Given the description of an element on the screen output the (x, y) to click on. 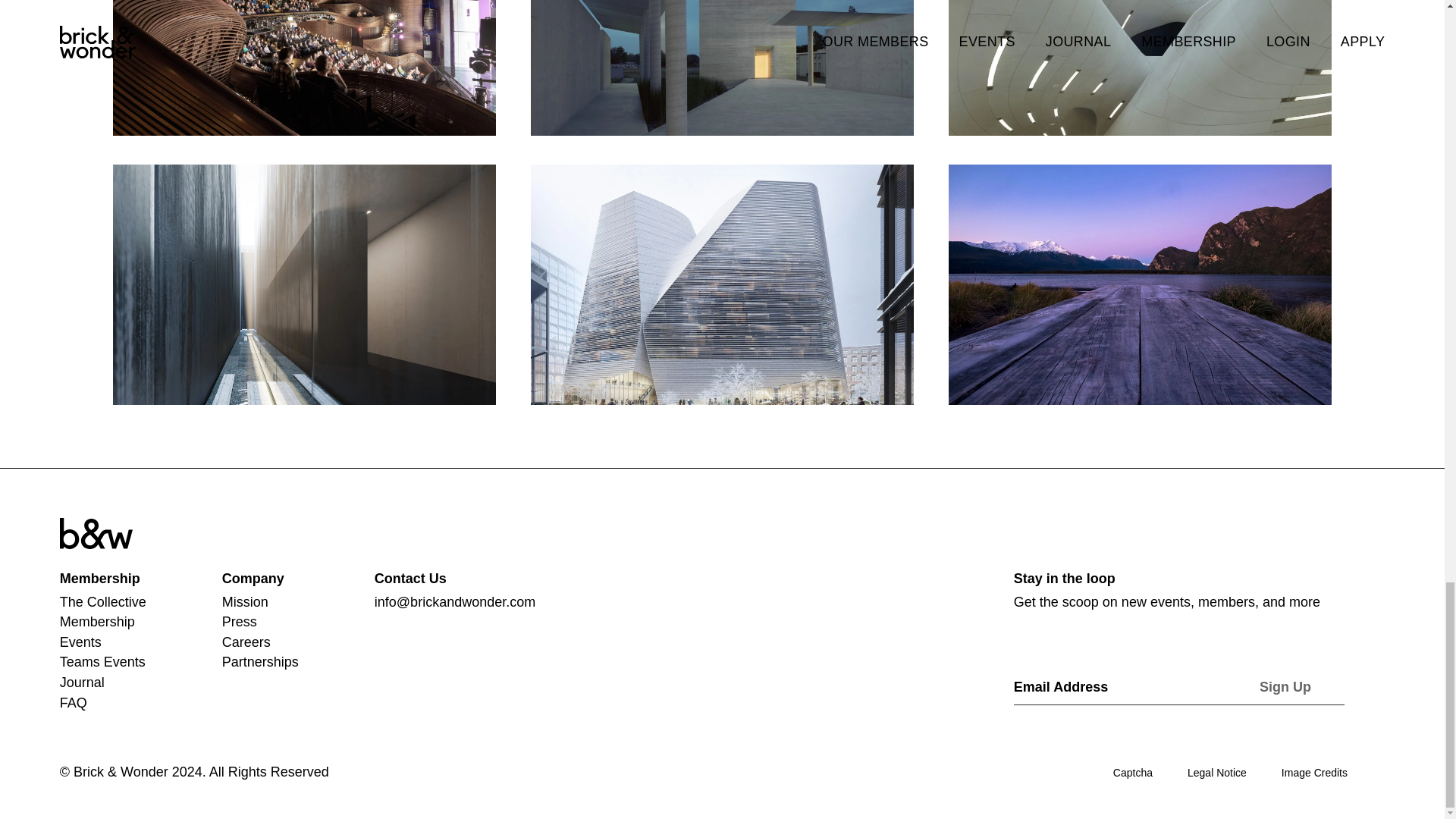
Journal (81, 682)
Membership (97, 621)
Mission (244, 601)
Careers (246, 642)
Partnerships (260, 661)
Captcha (1133, 772)
Events (80, 642)
The Collective (103, 601)
Sign Up (1284, 687)
Press (239, 621)
